Given the description of an element on the screen output the (x, y) to click on. 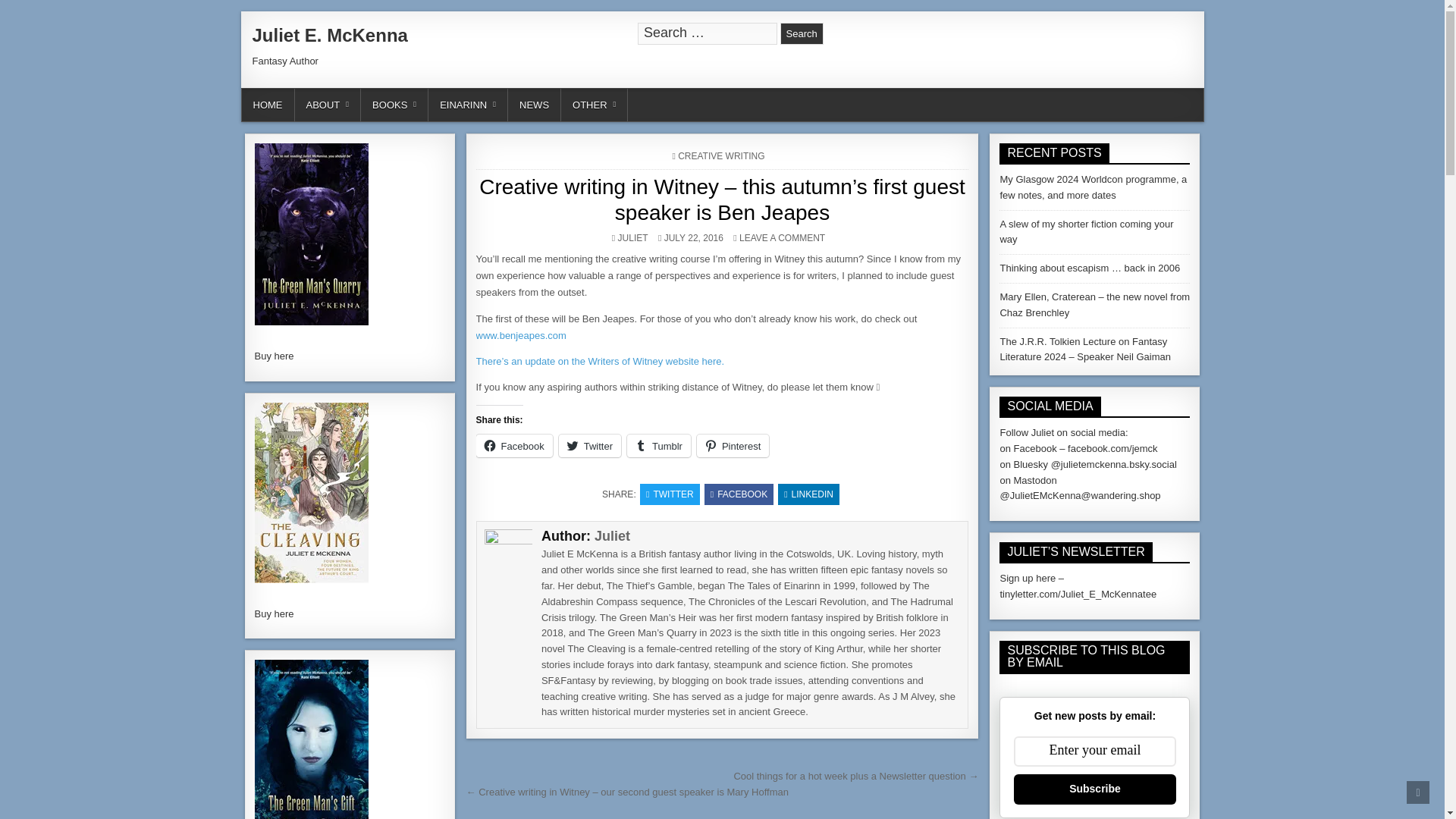
Tweet This! (670, 494)
HOME (267, 104)
Share this on Linkedin (808, 494)
Search (802, 33)
Search (802, 33)
BOOKS (394, 104)
Juliet E. McKenna (329, 35)
Scroll to Top (1417, 792)
Click to share on Twitter (590, 445)
Scroll to Top (1417, 792)
